Given the description of an element on the screen output the (x, y) to click on. 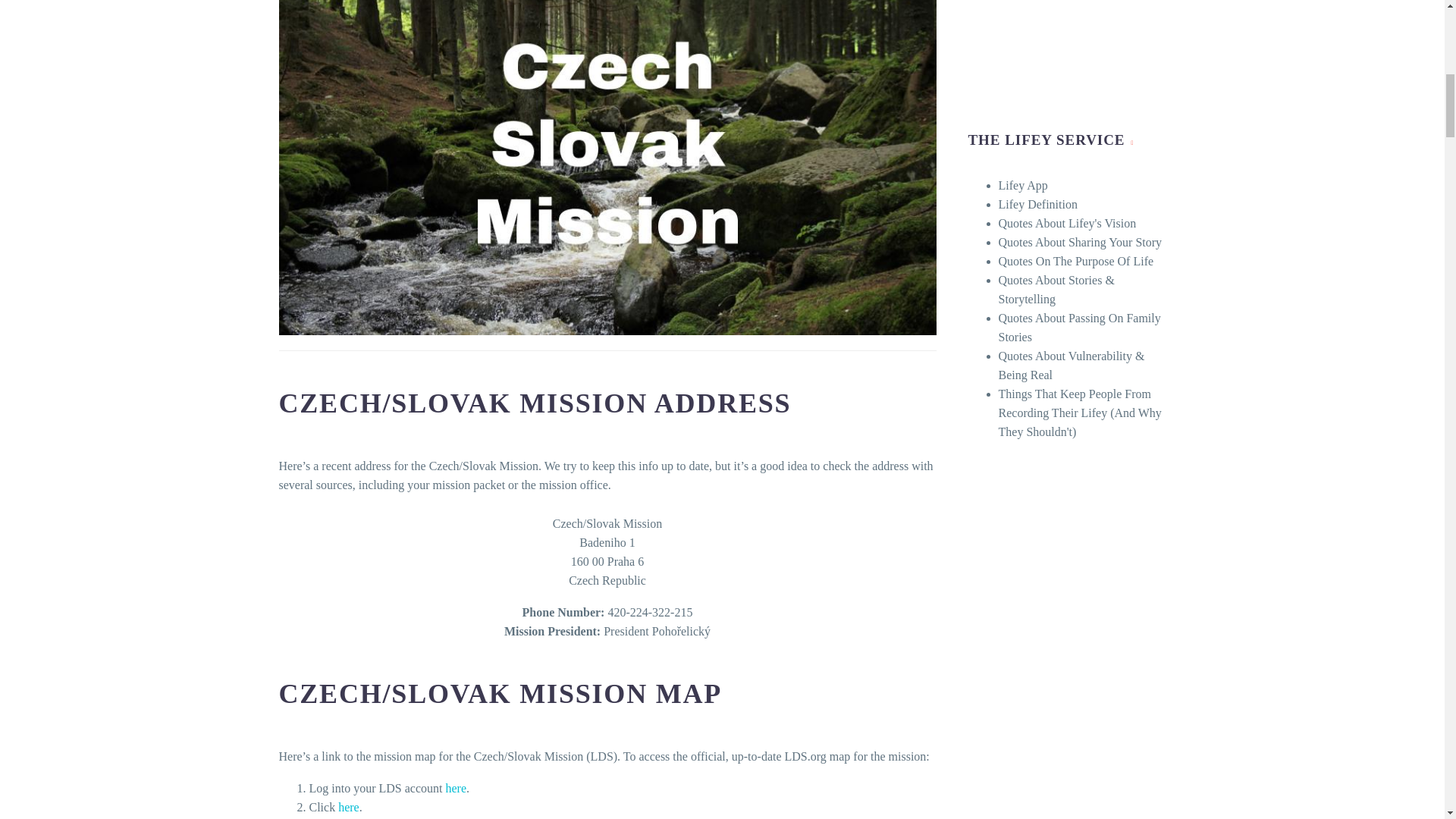
LDS Maps Sign In (455, 788)
here (348, 807)
here (455, 788)
